Given the description of an element on the screen output the (x, y) to click on. 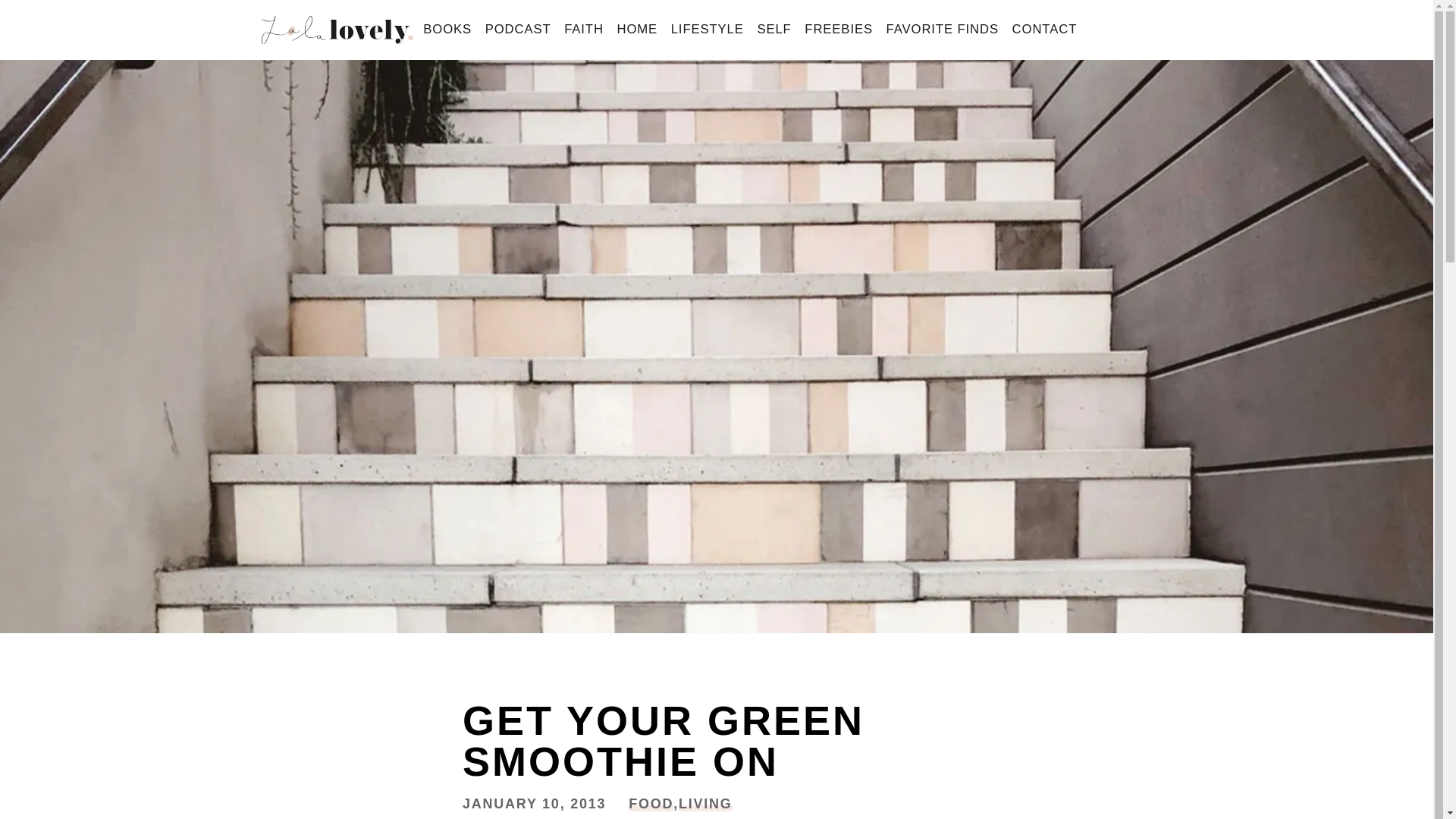
FAVORITE FINDS (942, 29)
SELF (774, 29)
PODCAST (518, 29)
LIFESTYLE (707, 29)
HOME (636, 29)
Search (40, 17)
FREEBIES (838, 29)
FAITH (583, 29)
BOOKS (446, 29)
